Given the description of an element on the screen output the (x, y) to click on. 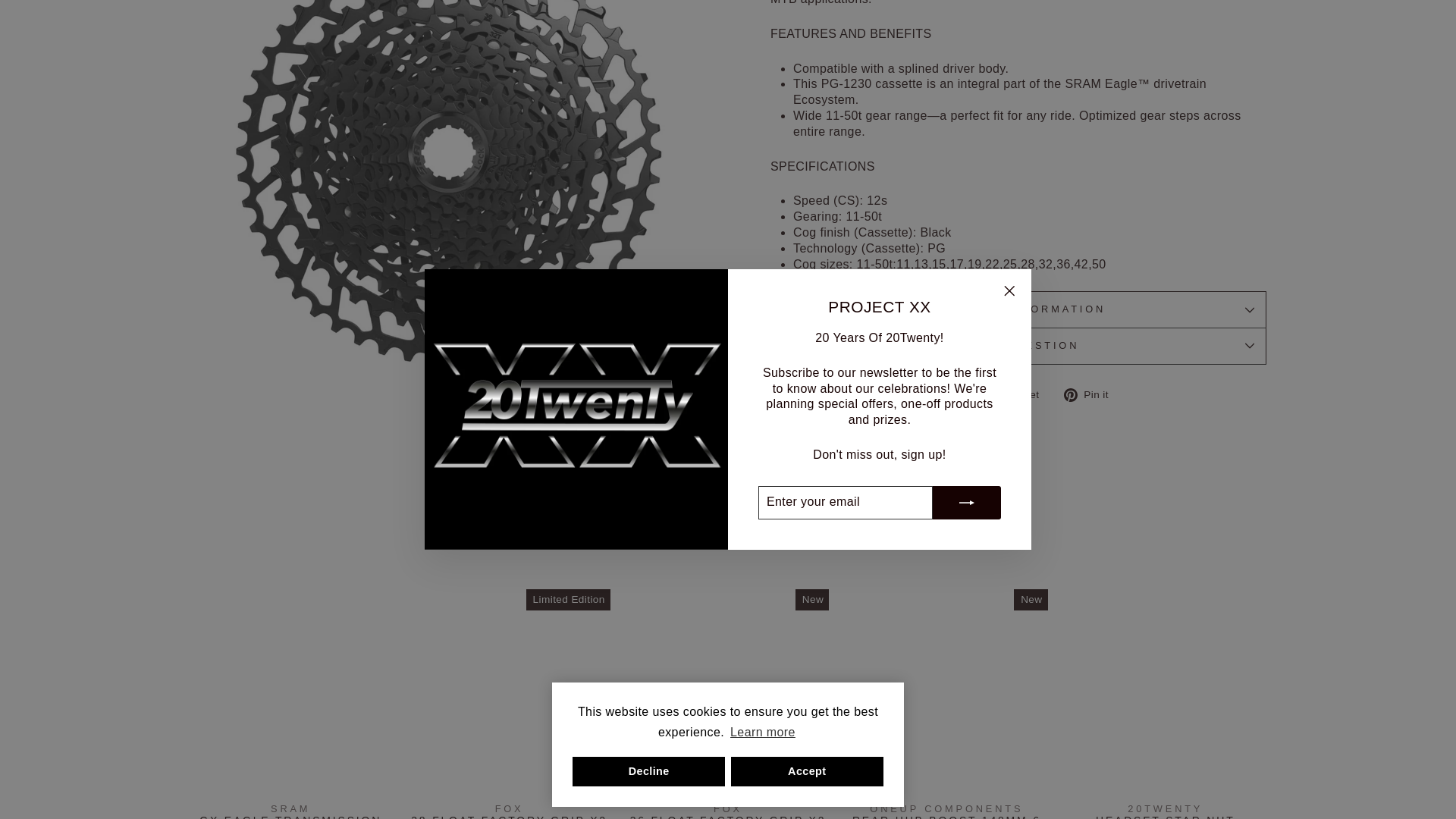
Tweet on Twitter (1019, 395)
twitter (997, 395)
